Given the description of an element on the screen output the (x, y) to click on. 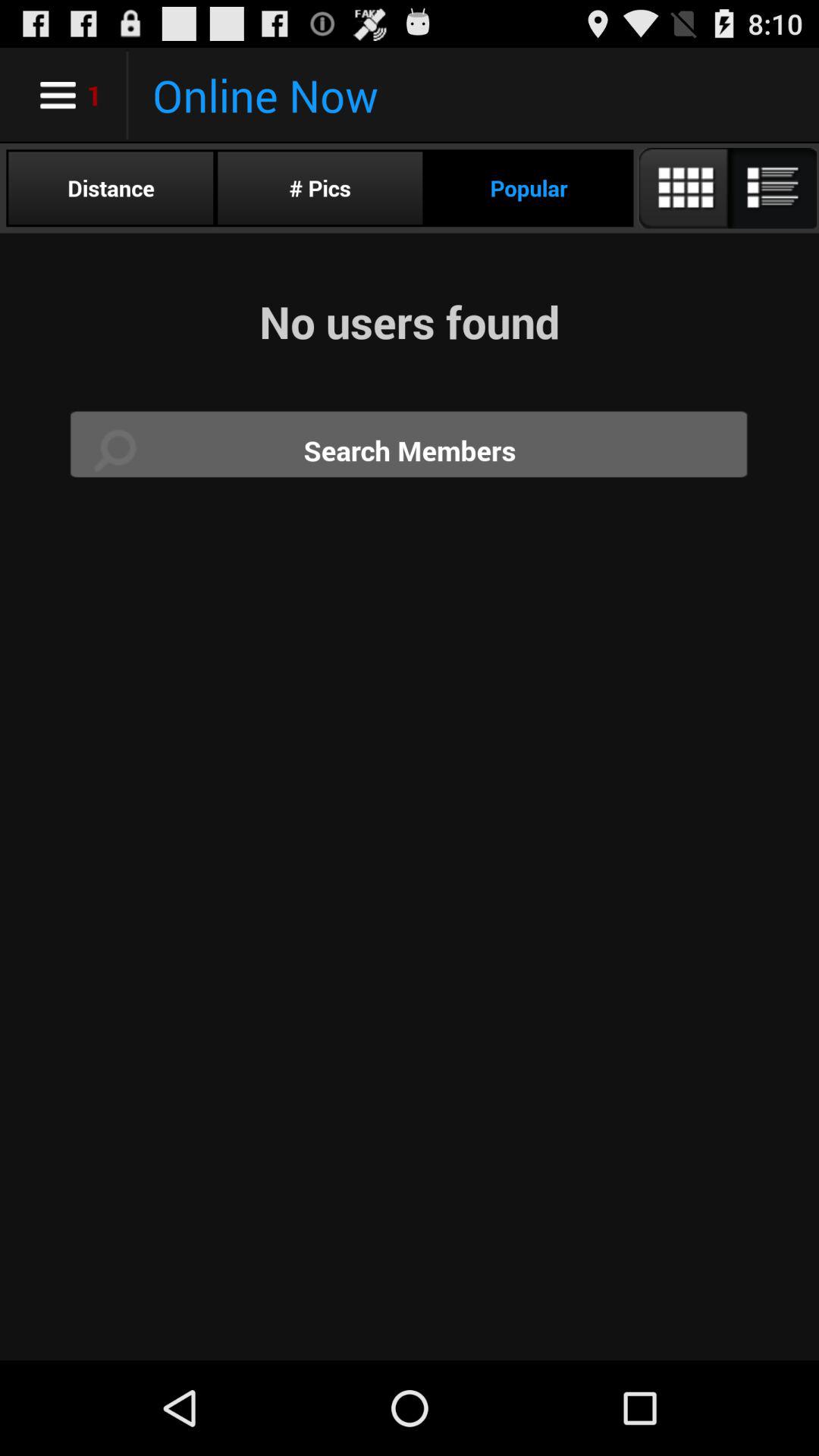
press icon above the no users found app (319, 187)
